Given the description of an element on the screen output the (x, y) to click on. 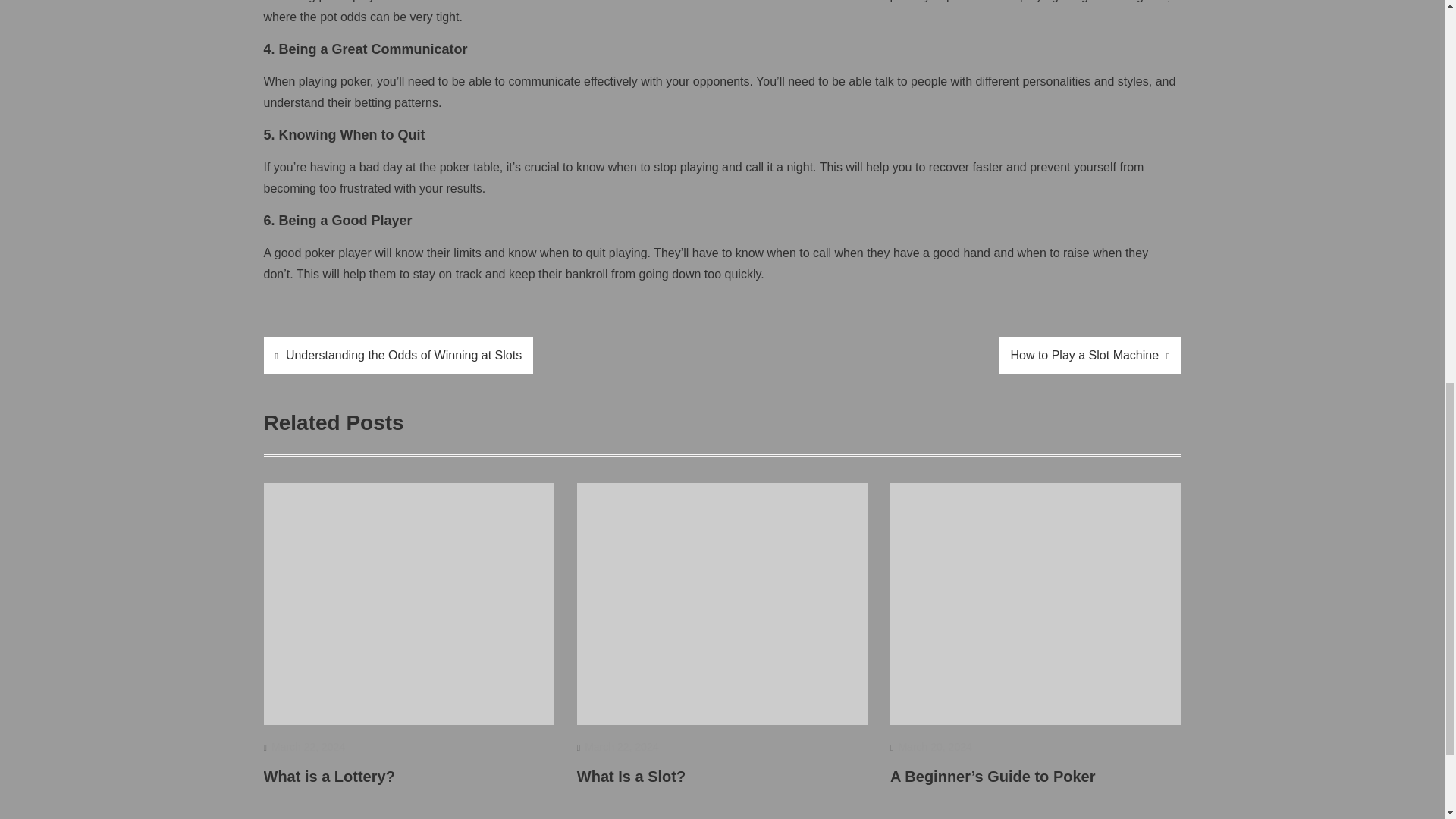
What Is a Slot? (630, 776)
How to Play a Slot Machine (1089, 355)
What is a Lottery? (328, 776)
Understanding the Odds of Winning at Slots (398, 355)
